Given the description of an element on the screen output the (x, y) to click on. 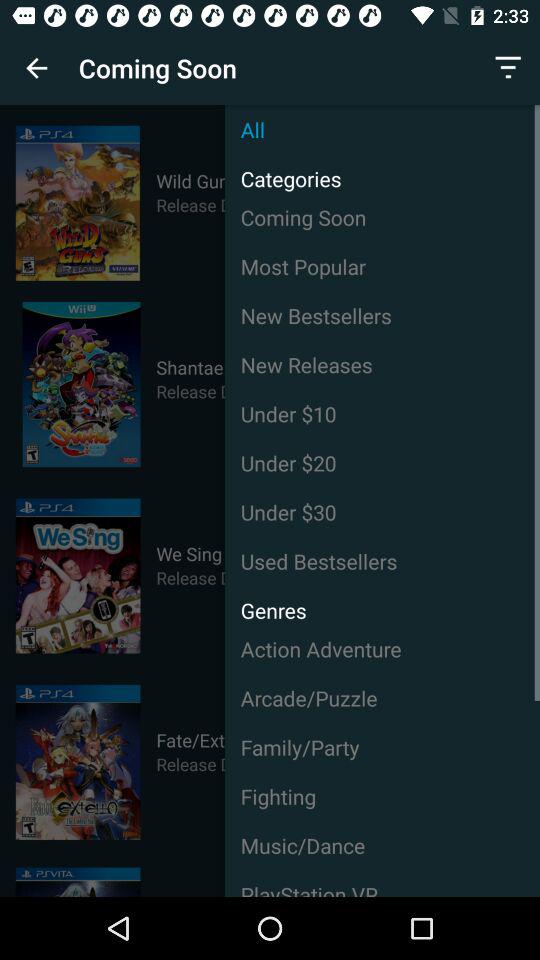
press item above action adventure icon (265, 604)
